Given the description of an element on the screen output the (x, y) to click on. 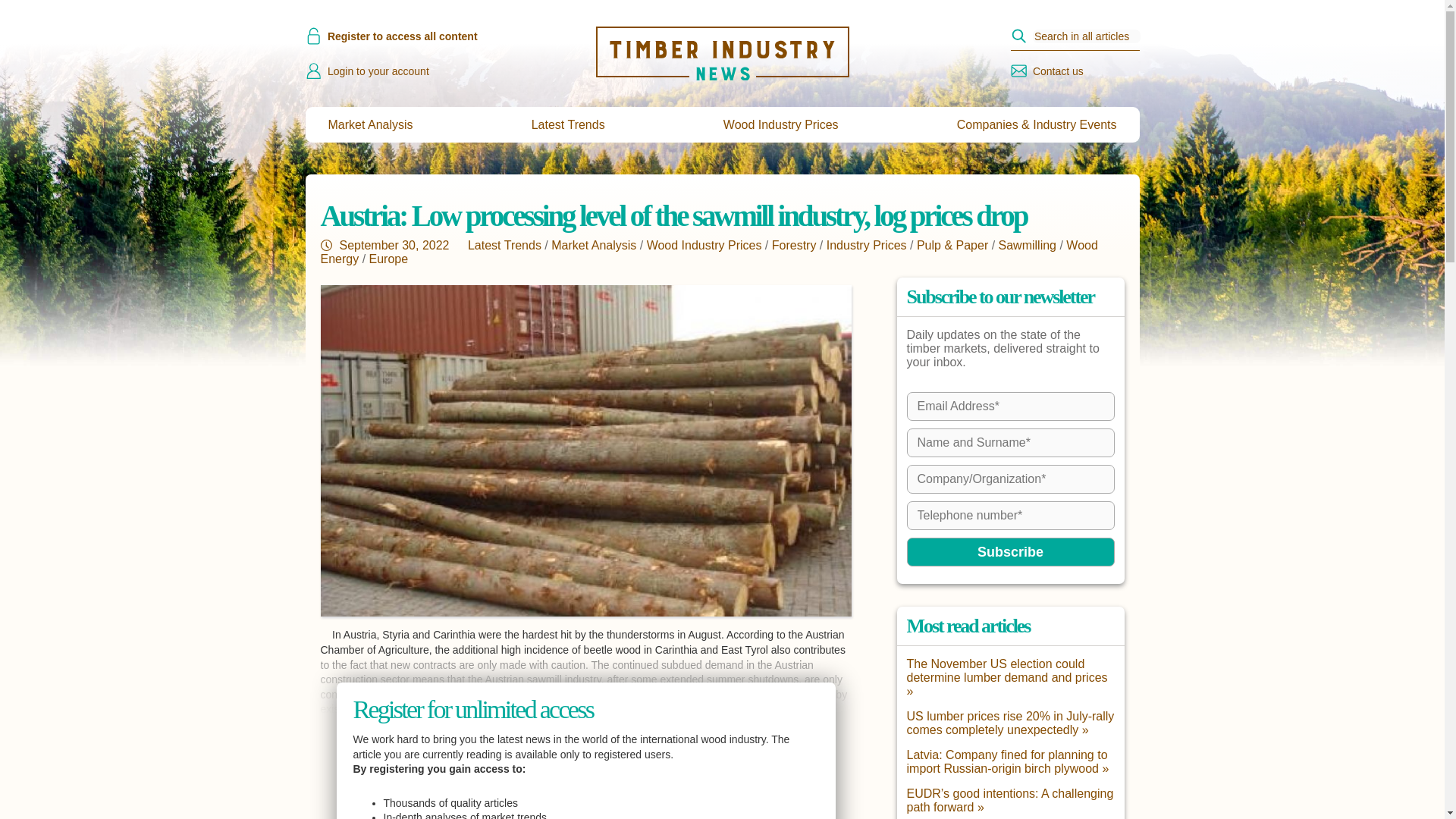
Europe (389, 258)
Latest Trends (568, 124)
Wood Industry Prices (703, 245)
Forestry (793, 245)
Industry Prices (867, 245)
Register to access all content (443, 35)
Contact us (1046, 70)
Login to your account (443, 70)
Sawmilling (1027, 245)
Subscribe (1011, 551)
